Given the description of an element on the screen output the (x, y) to click on. 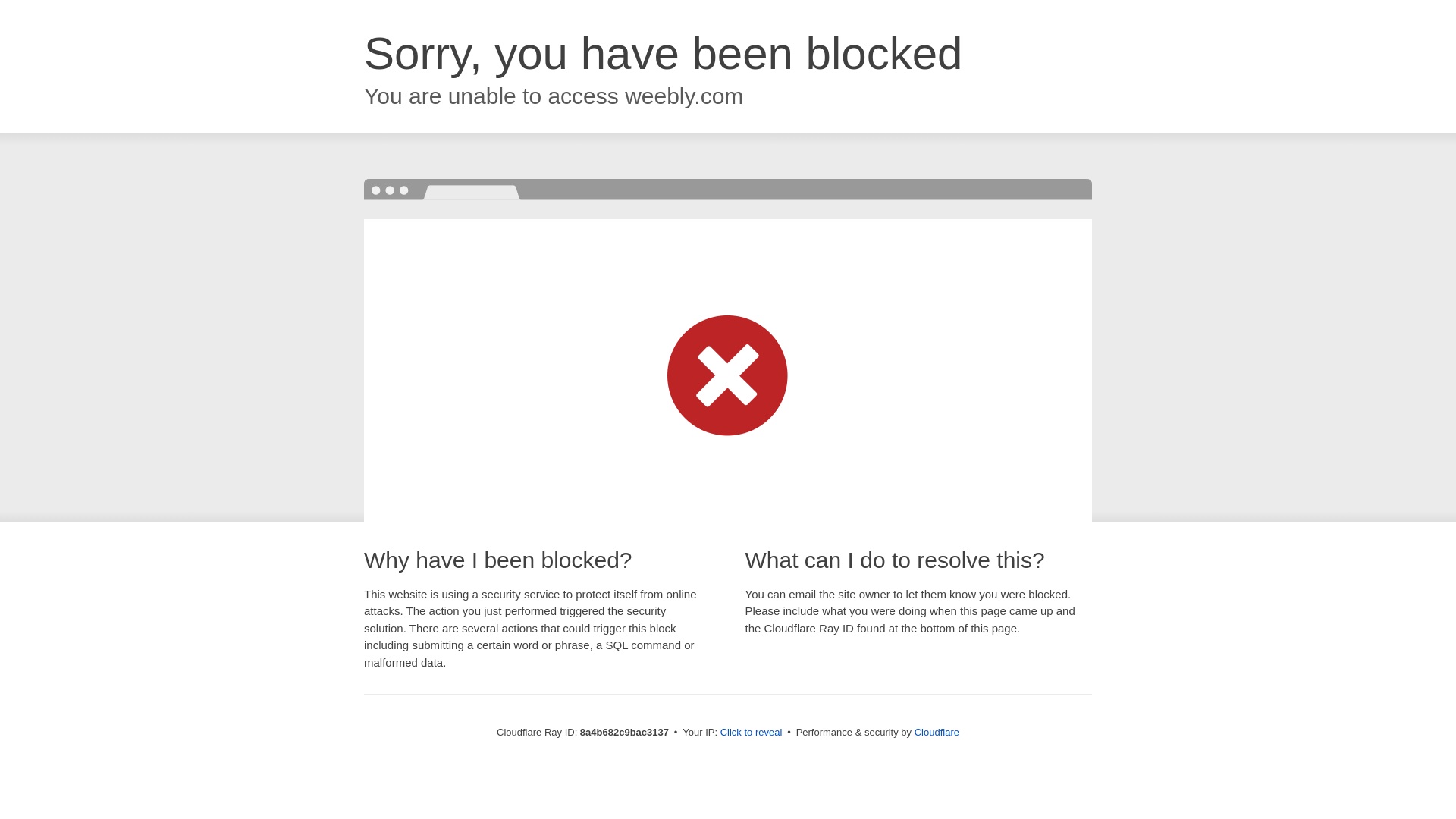
Click to reveal (751, 732)
Cloudflare (936, 731)
